Given the description of an element on the screen output the (x, y) to click on. 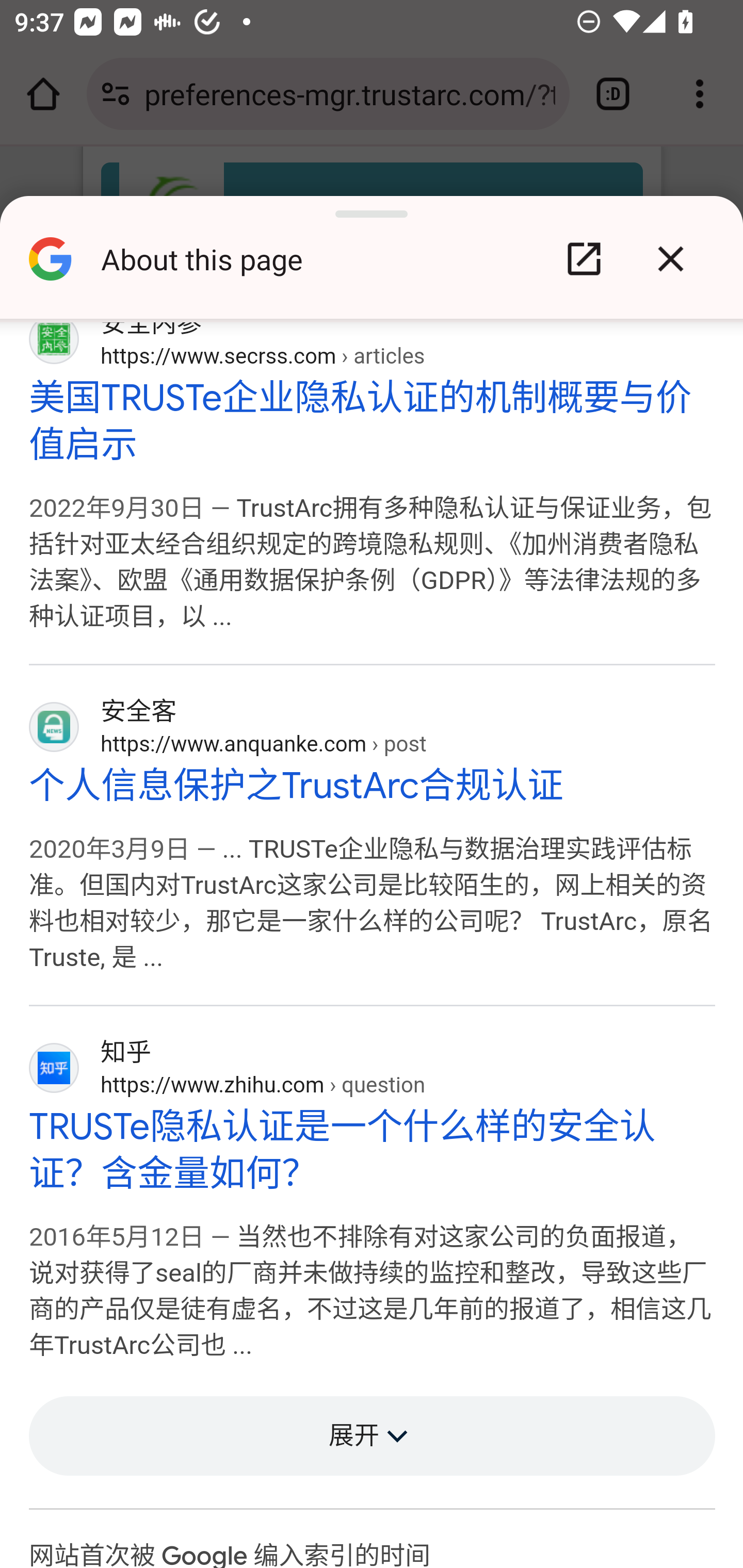
About this page Open in new tab Close (371, 266)
Open in new tab (583, 259)
Close (670, 259)
展开 (372, 1436)
